Given the description of an element on the screen output the (x, y) to click on. 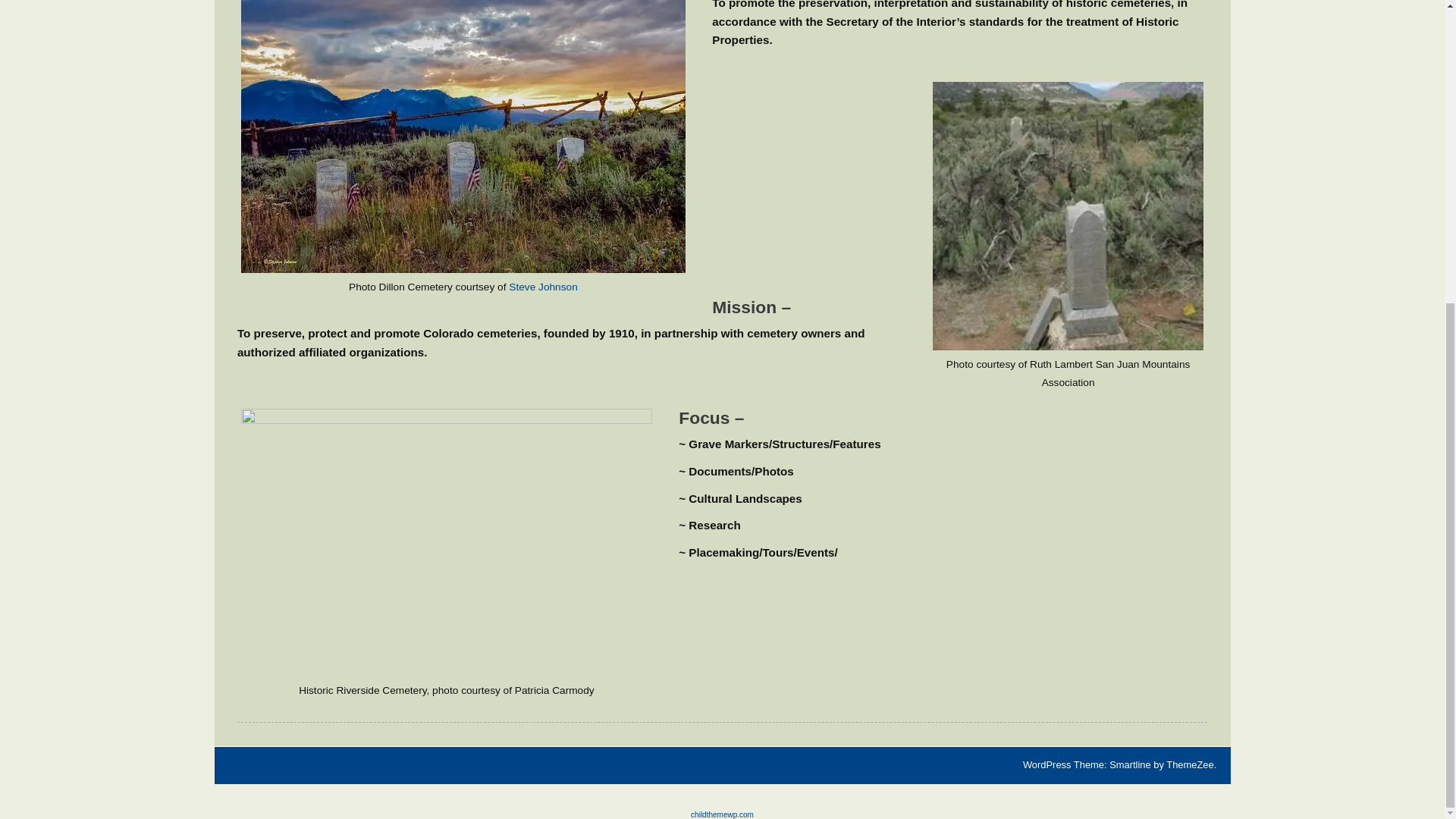
childthemewp.com (722, 814)
Steve Johnson (542, 286)
